Given the description of an element on the screen output the (x, y) to click on. 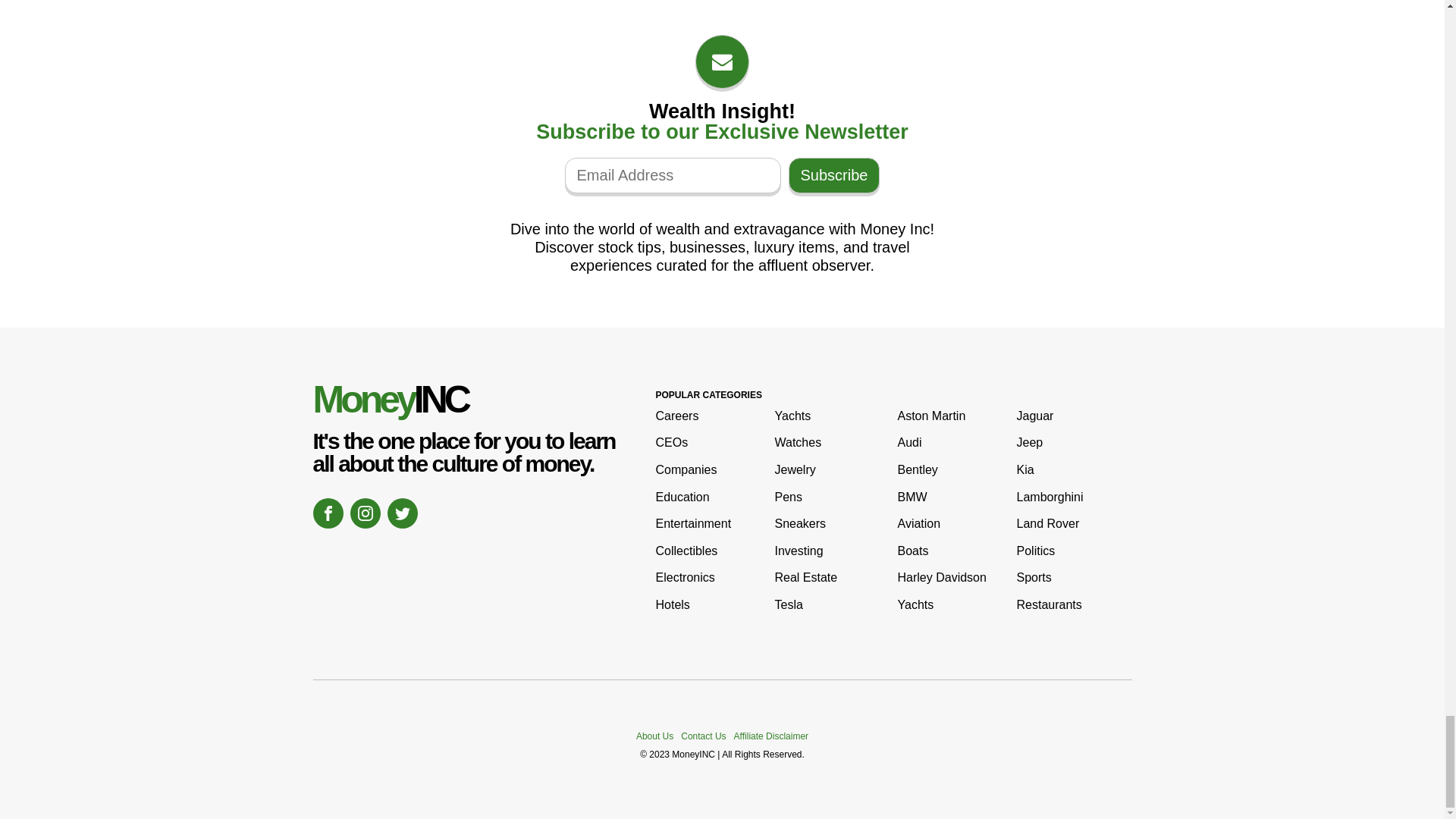
Subscribe (834, 175)
